Given the description of an element on the screen output the (x, y) to click on. 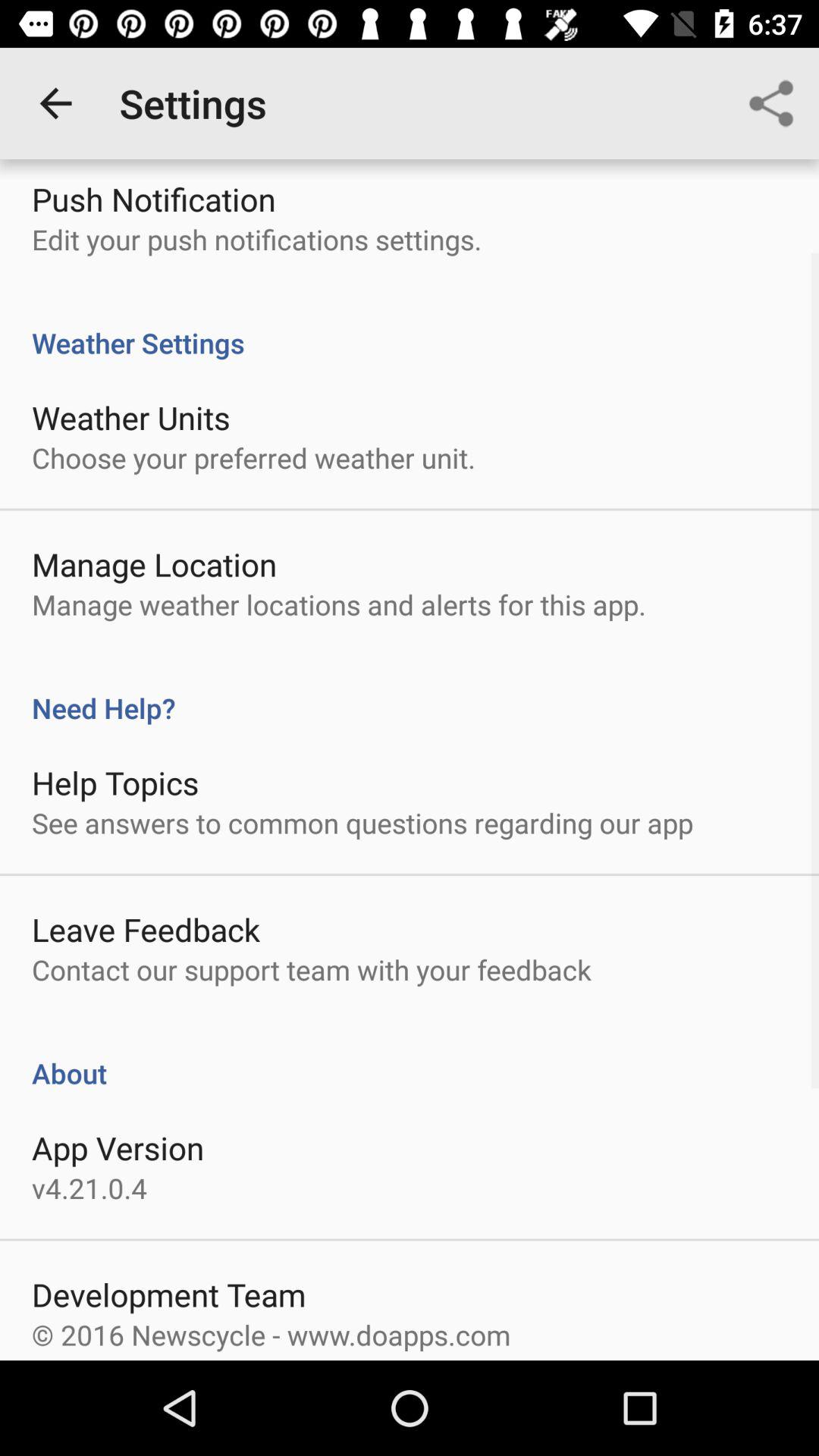
launch the v4 21 0 icon (89, 1187)
